Given the description of an element on the screen output the (x, y) to click on. 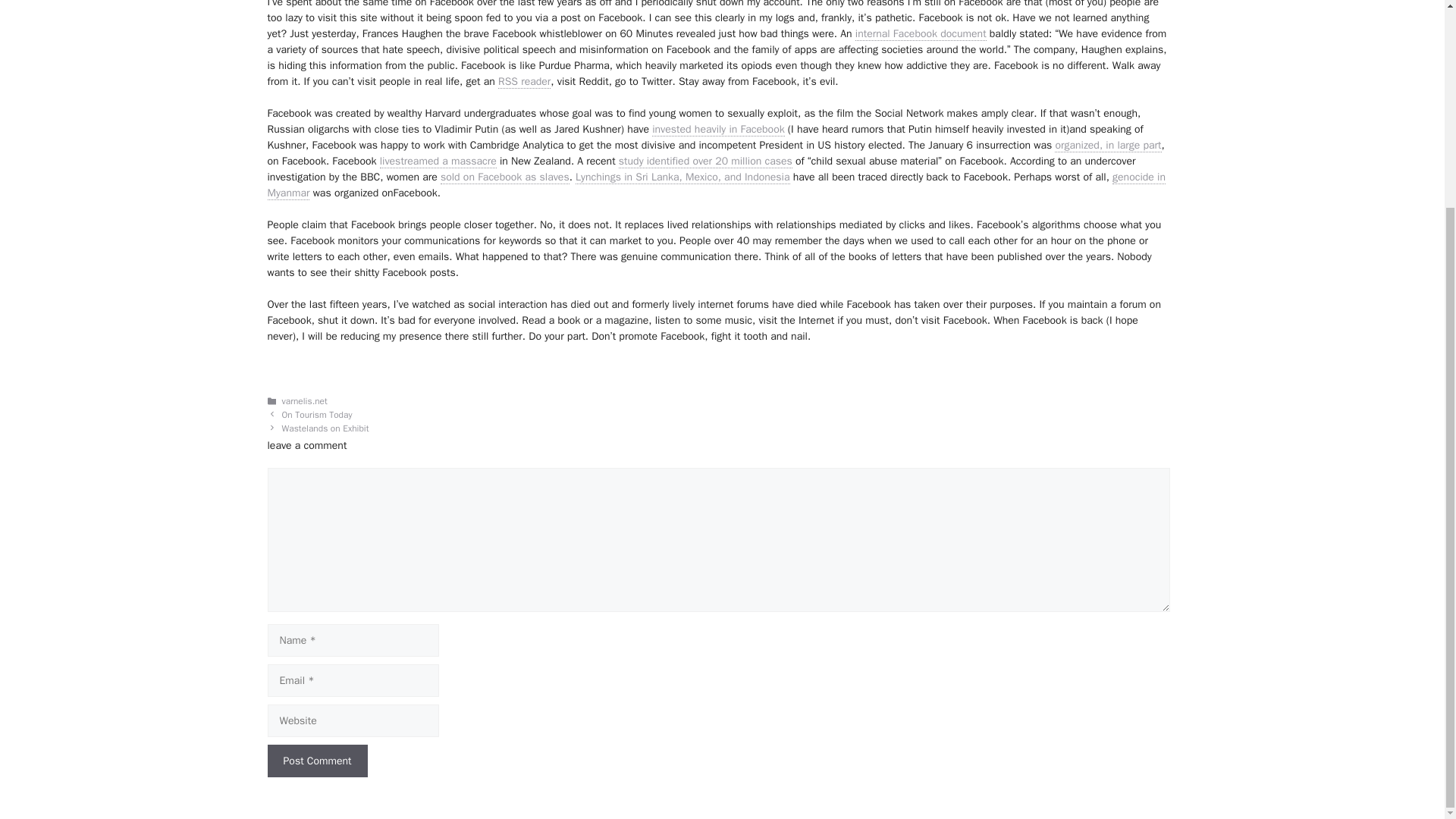
genocide in Myanmar (715, 184)
Post Comment (316, 760)
varnelis.net (304, 401)
internal Facebook document (921, 33)
On Tourism Today (317, 414)
Wastelands on Exhibit (325, 428)
Post Comment (316, 760)
Lynchings in Sri Lanka, Mexico, and Indonesia (682, 177)
invested heavily in Facebook (718, 129)
organized, in large part (1107, 145)
